Given the description of an element on the screen output the (x, y) to click on. 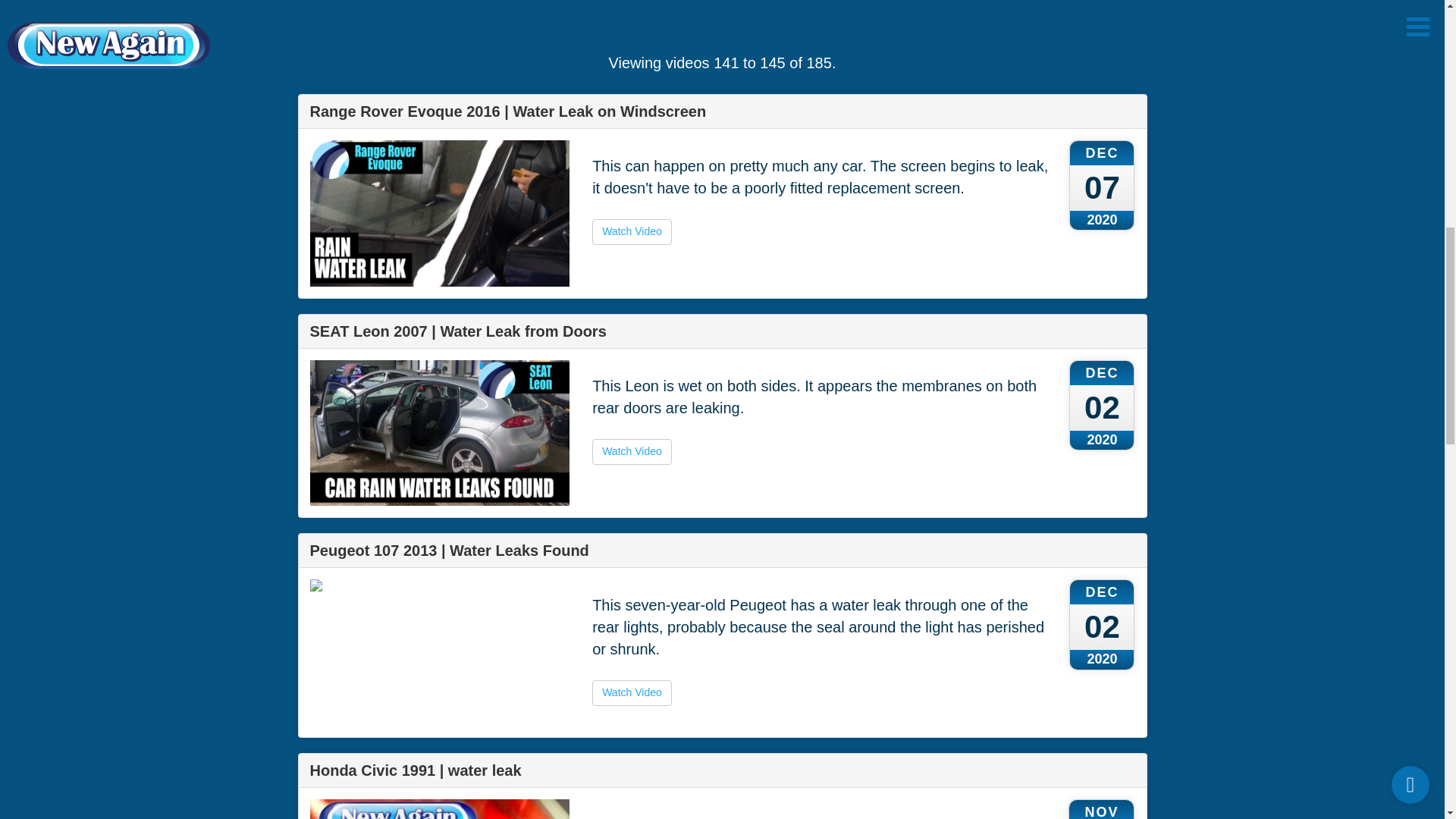
Watch Video (631, 231)
Watch Video (631, 692)
Watch Video (631, 451)
